Given the description of an element on the screen output the (x, y) to click on. 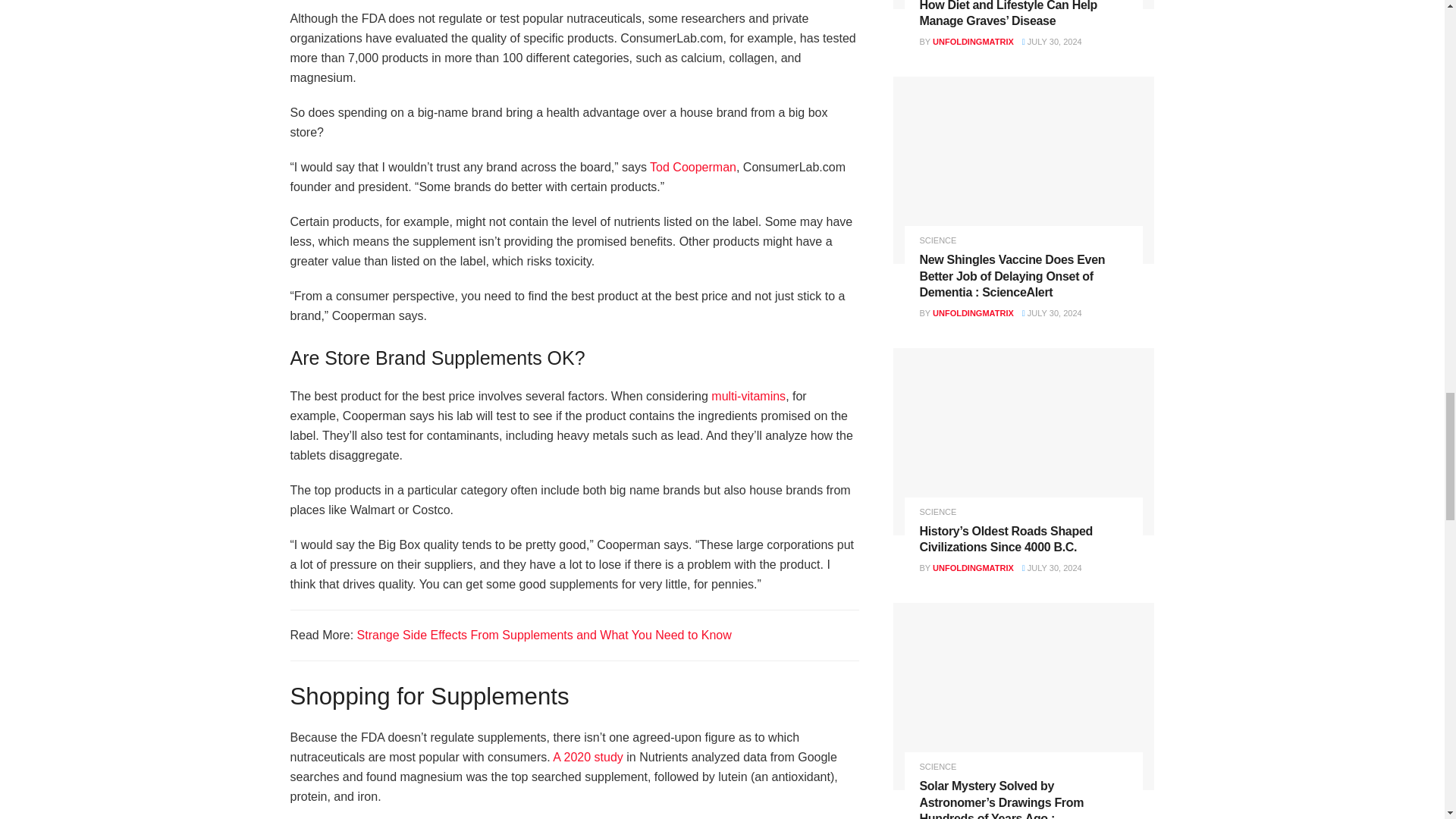
Tod Cooperman (692, 166)
multi-vitamins (748, 395)
A 2020 study (586, 757)
